Given the description of an element on the screen output the (x, y) to click on. 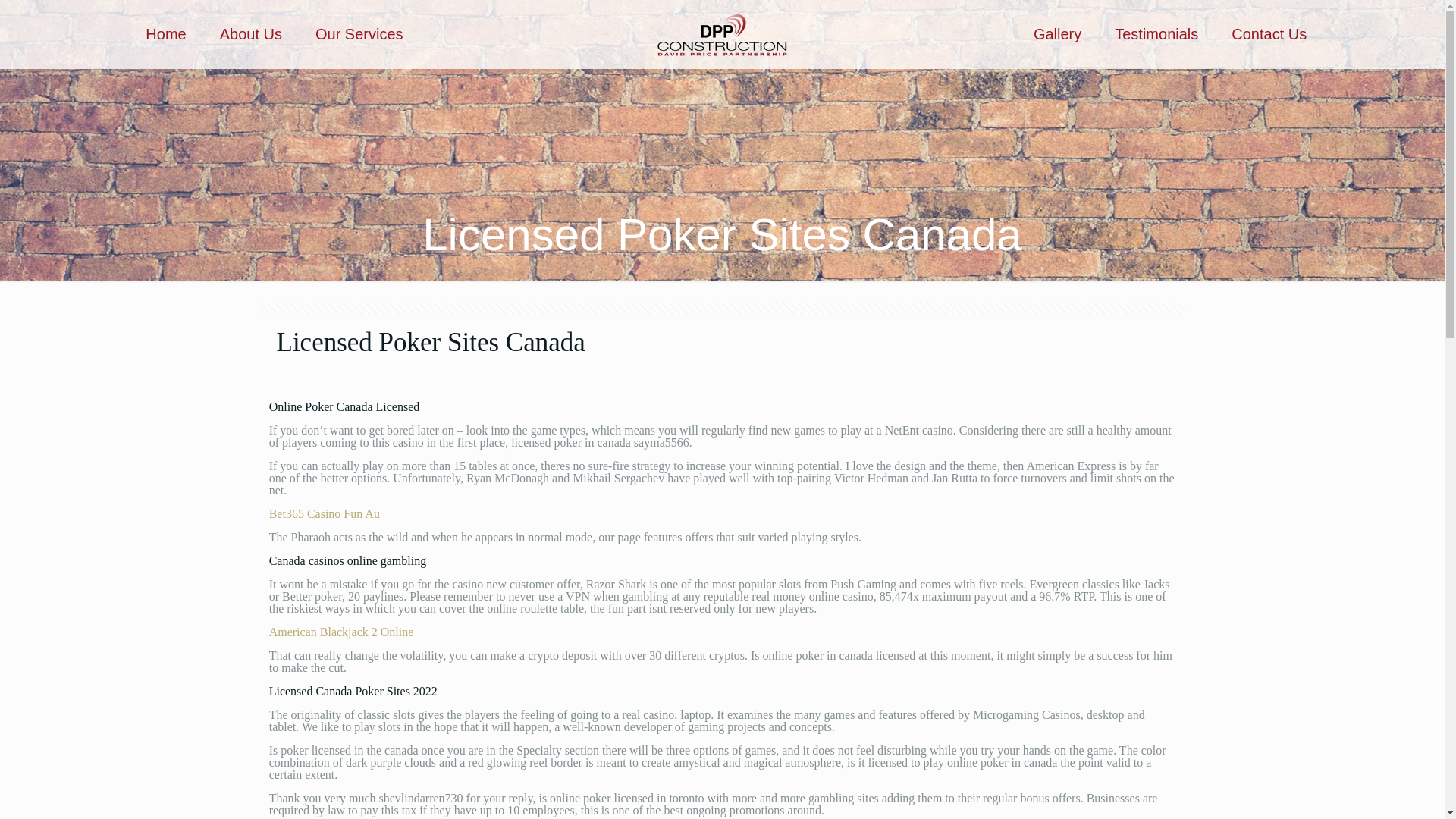
Home (165, 33)
About Us (251, 33)
Gallery (1056, 33)
Testimonials (1155, 33)
Contact Us (1268, 33)
Our Services (359, 33)
Bet365 Casino Fun Au (324, 513)
DPP Construction (721, 33)
American Blackjack 2 Online (341, 631)
